Given the description of an element on the screen output the (x, y) to click on. 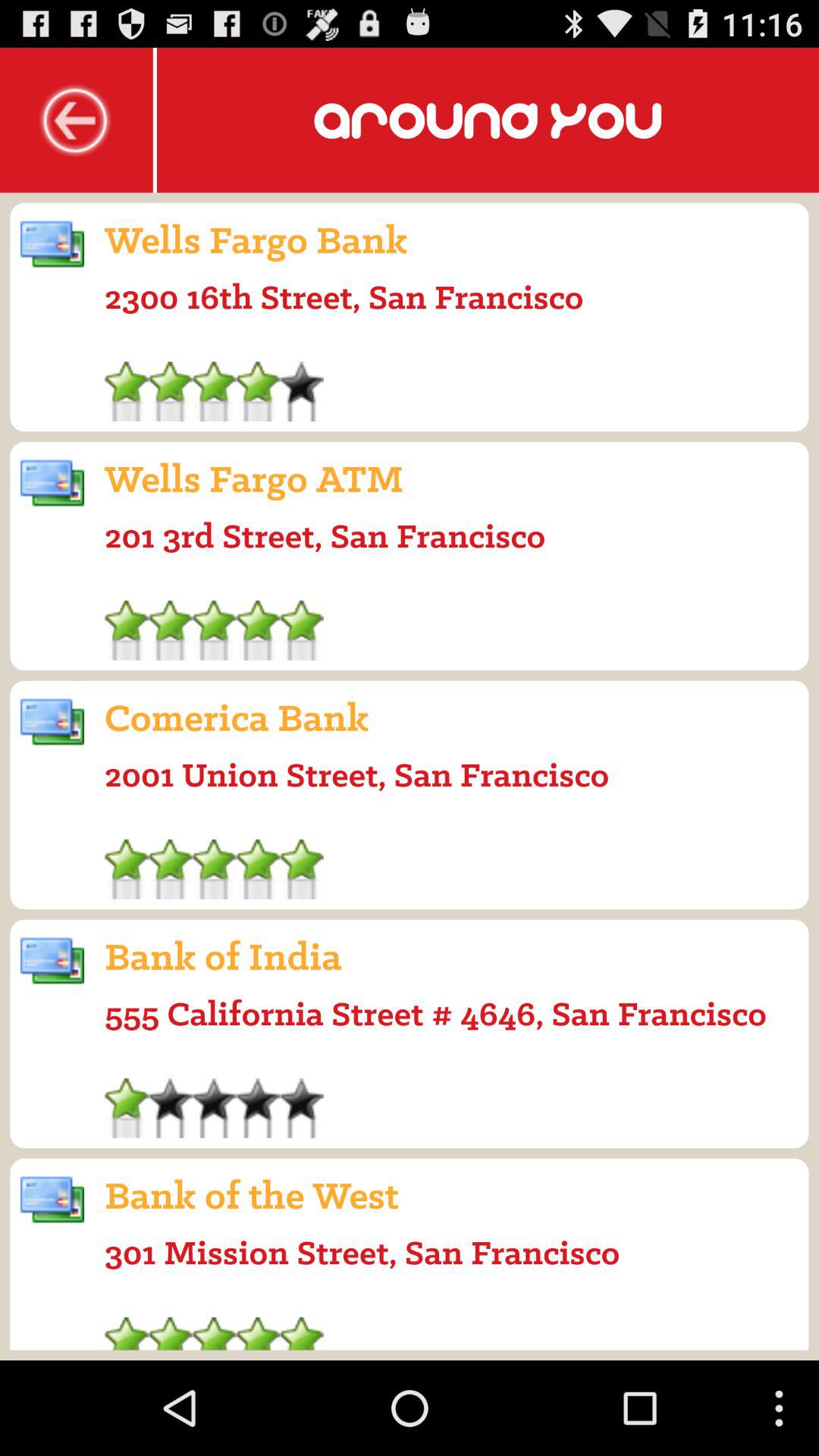
select 2001 union street icon (356, 774)
